Given the description of an element on the screen output the (x, y) to click on. 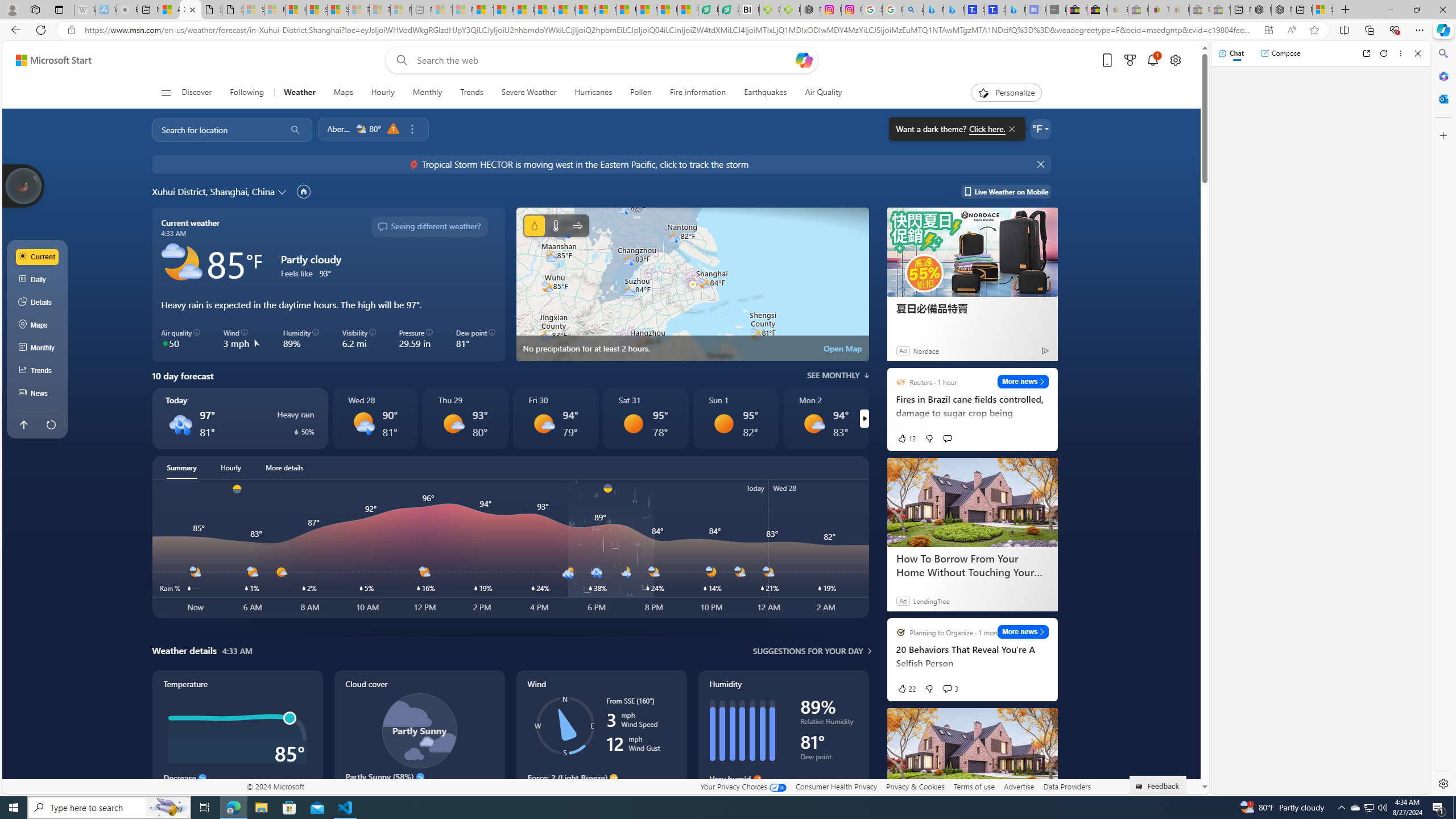
Set as primary location (303, 191)
Heavy rain (180, 422)
Yard, Garden & Outdoor Living - Sleeping (1219, 9)
Precipitation (534, 225)
Maps (343, 92)
Weather (299, 92)
Open Copilot (803, 59)
Suggestions for your day (807, 650)
See Monthly (837, 375)
Class: cloudCoverSvg-DS-ps0R9q (419, 730)
Side bar (1443, 418)
Hourly (382, 92)
